Given the description of an element on the screen output the (x, y) to click on. 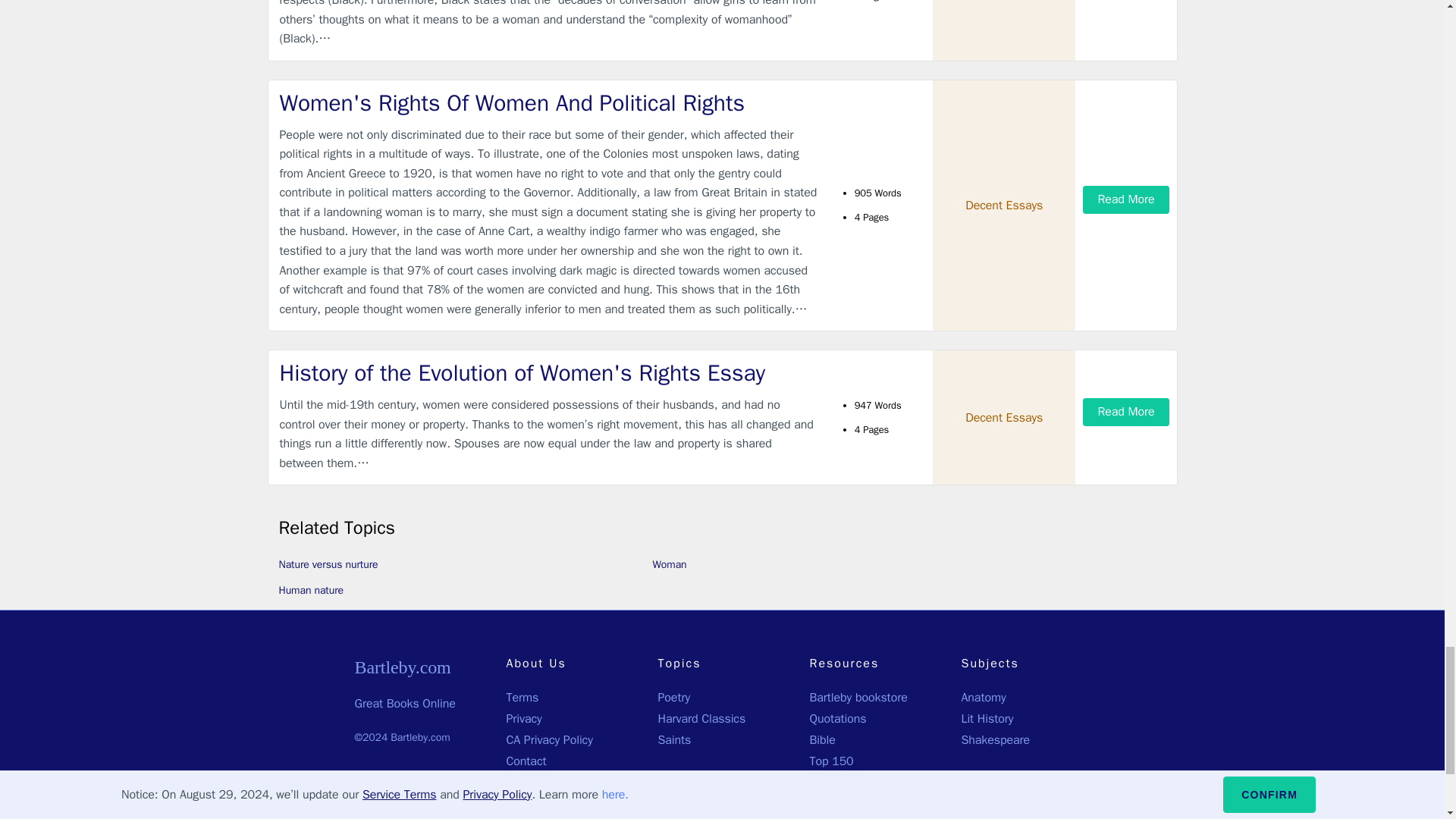
Woman (668, 563)
Human nature (311, 590)
Nature versus nurture (328, 563)
